Given the description of an element on the screen output the (x, y) to click on. 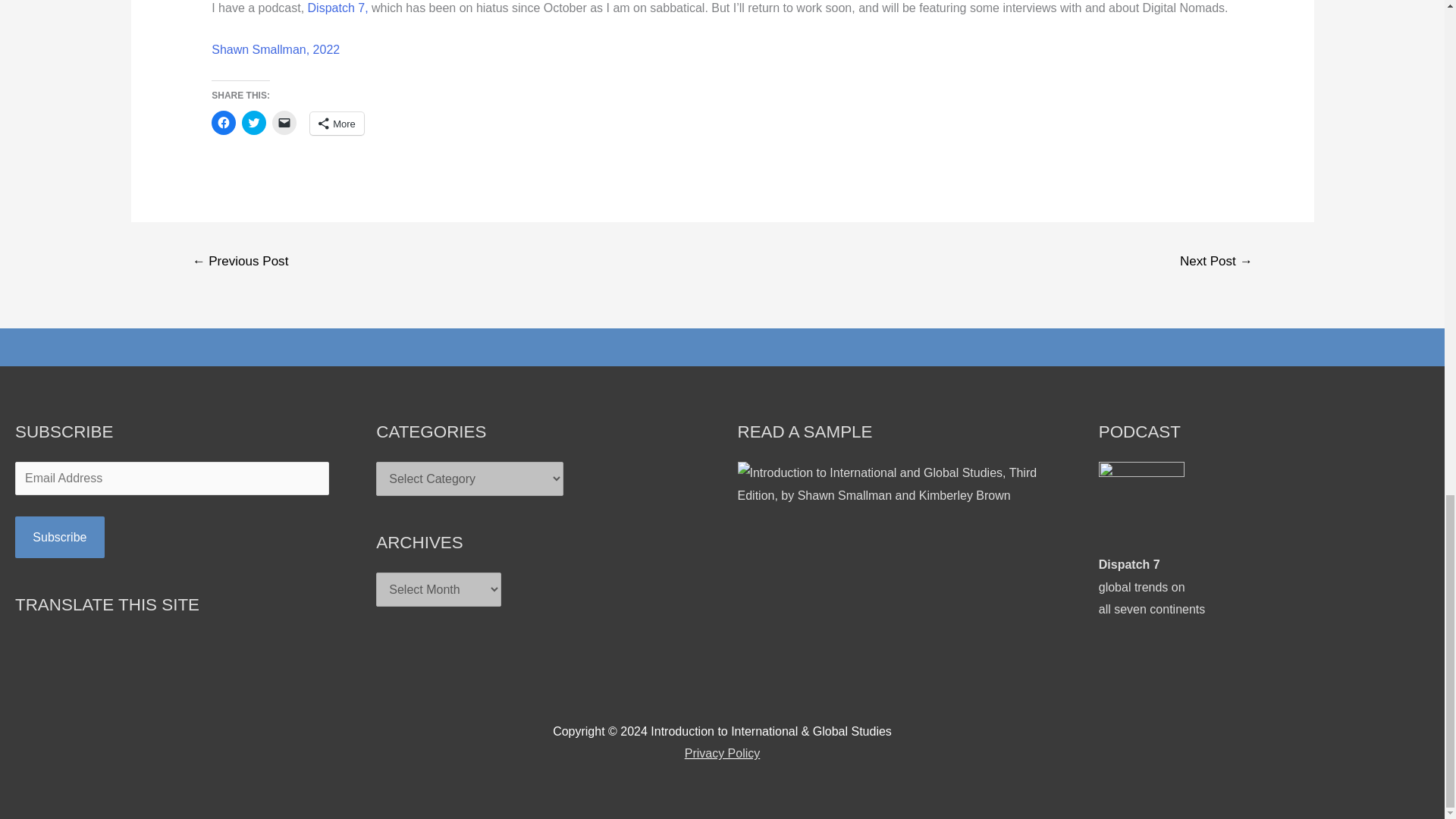
Click to share on Twitter (253, 122)
Read a Sample (901, 483)
Subscribe (59, 536)
More (337, 123)
Click to share on Facebook (223, 122)
Shawn Smallman, 2022 (275, 49)
Click to email a link to a friend (284, 122)
Dispatch 7, (339, 7)
